Given the description of an element on the screen output the (x, y) to click on. 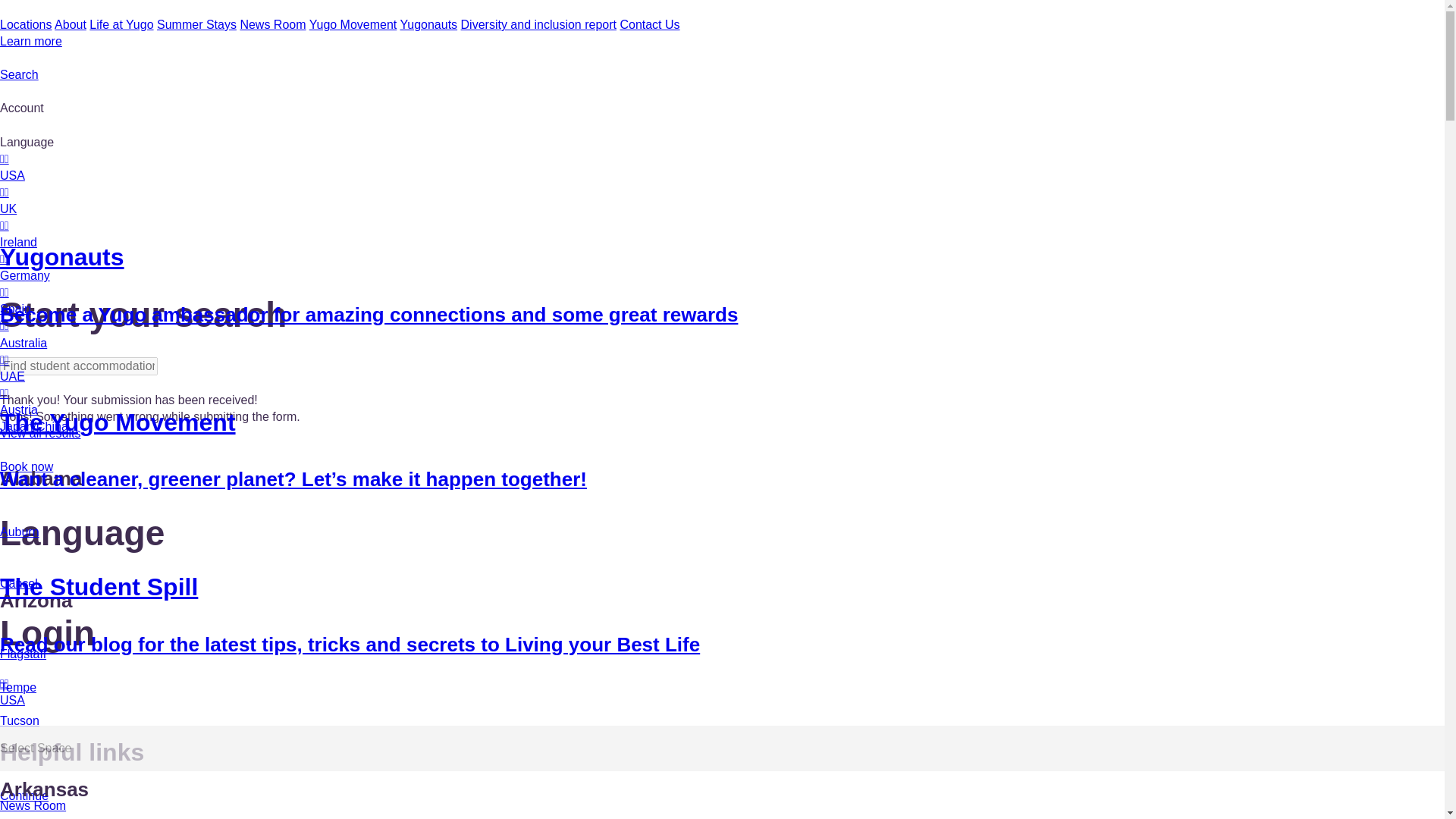
Diversity and inclusion report (538, 24)
Yugo Movement (352, 24)
News Room (272, 24)
Locations (26, 24)
Life at Yugo (120, 24)
Yugonauts (427, 24)
Summer Stays (196, 24)
About (70, 24)
Contact Us (649, 24)
